Given the description of an element on the screen output the (x, y) to click on. 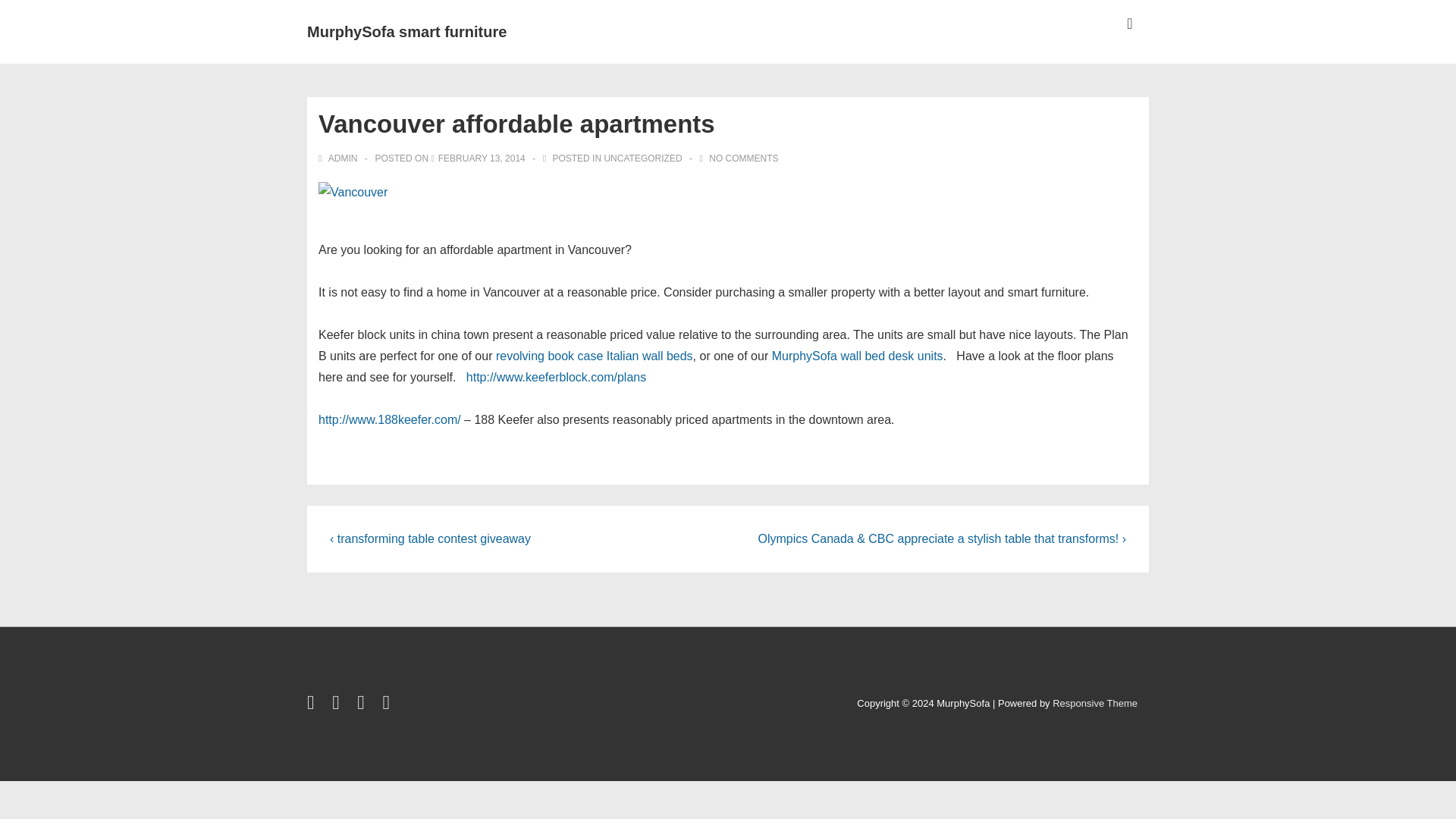
revolving book case Italian wall beds (594, 355)
pinterest (387, 705)
NO COMMENTS (743, 158)
youtube (363, 705)
ADMIN (338, 158)
facebook (338, 705)
twitter (313, 705)
UNCATEGORIZED (642, 158)
MENU (1130, 23)
View all posts by admin (338, 158)
